Given the description of an element on the screen output the (x, y) to click on. 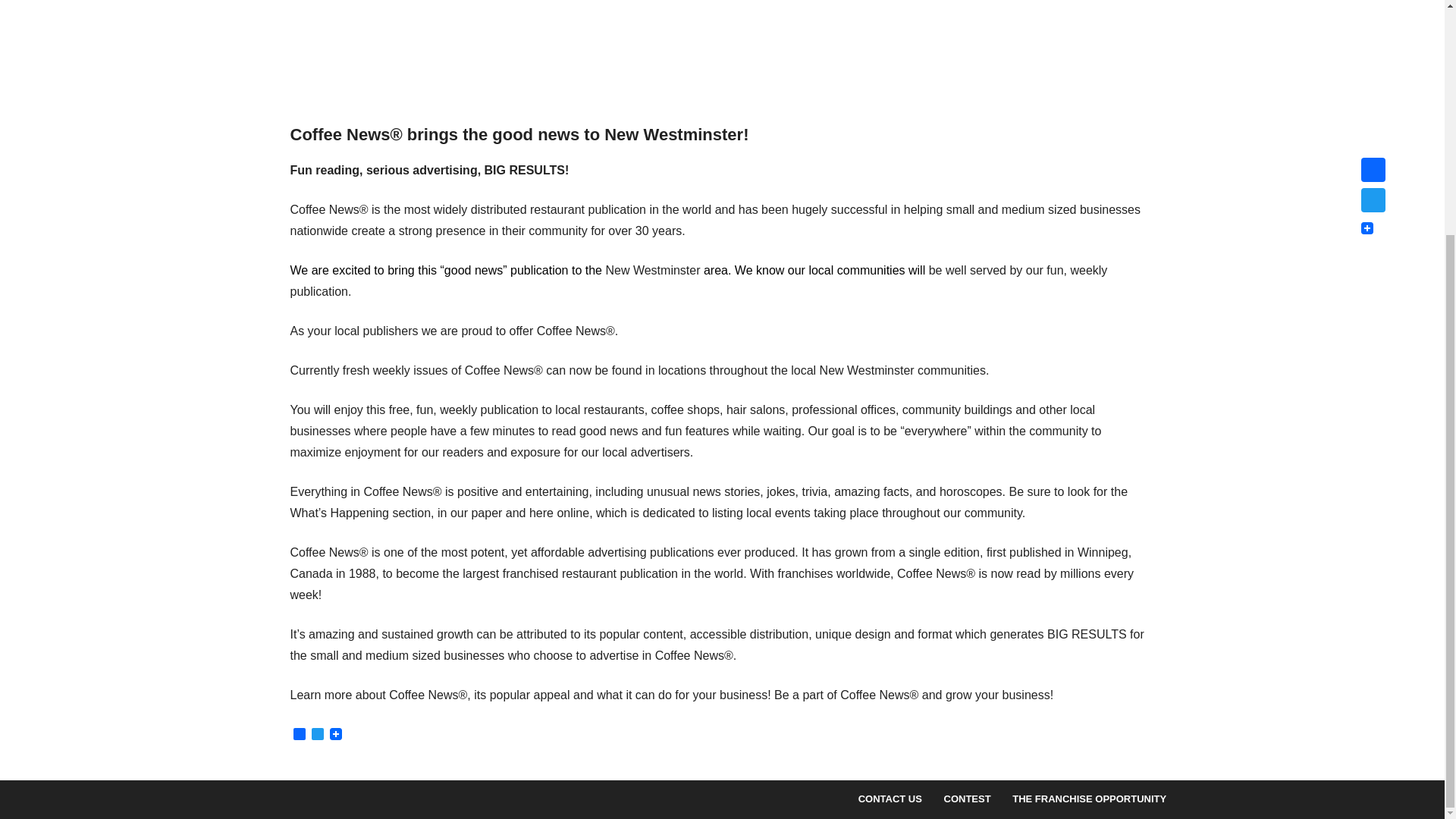
Twitter (316, 735)
Twitter (316, 735)
Facebook (298, 735)
Facebook (298, 735)
